Given the description of an element on the screen output the (x, y) to click on. 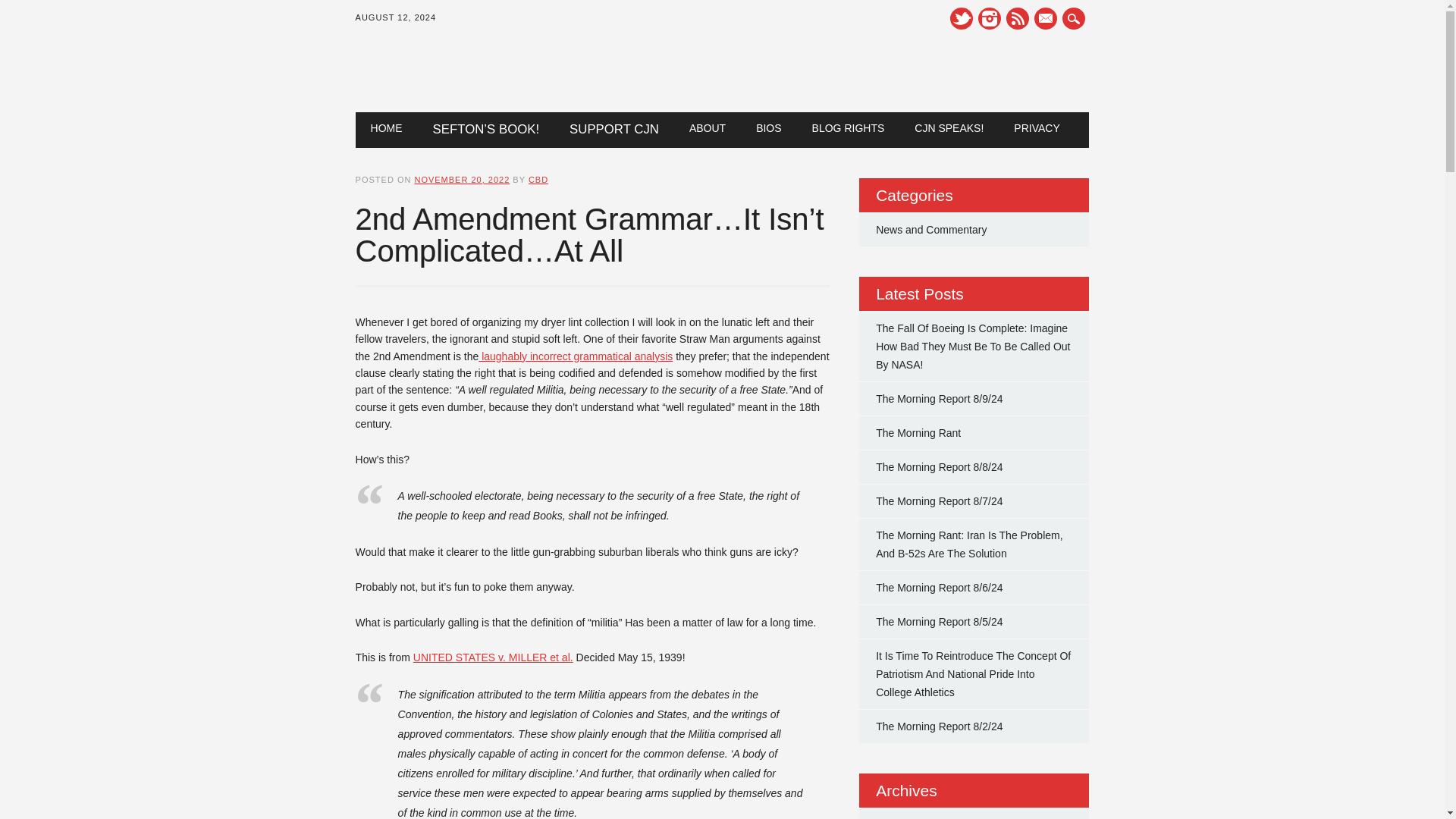
laughably incorrect grammatical analysis (575, 356)
SUPPORT CJN (614, 130)
View all posts by CBD (538, 179)
Instagram (989, 18)
BIOS (768, 128)
News and Commentary (931, 229)
